Given the description of an element on the screen output the (x, y) to click on. 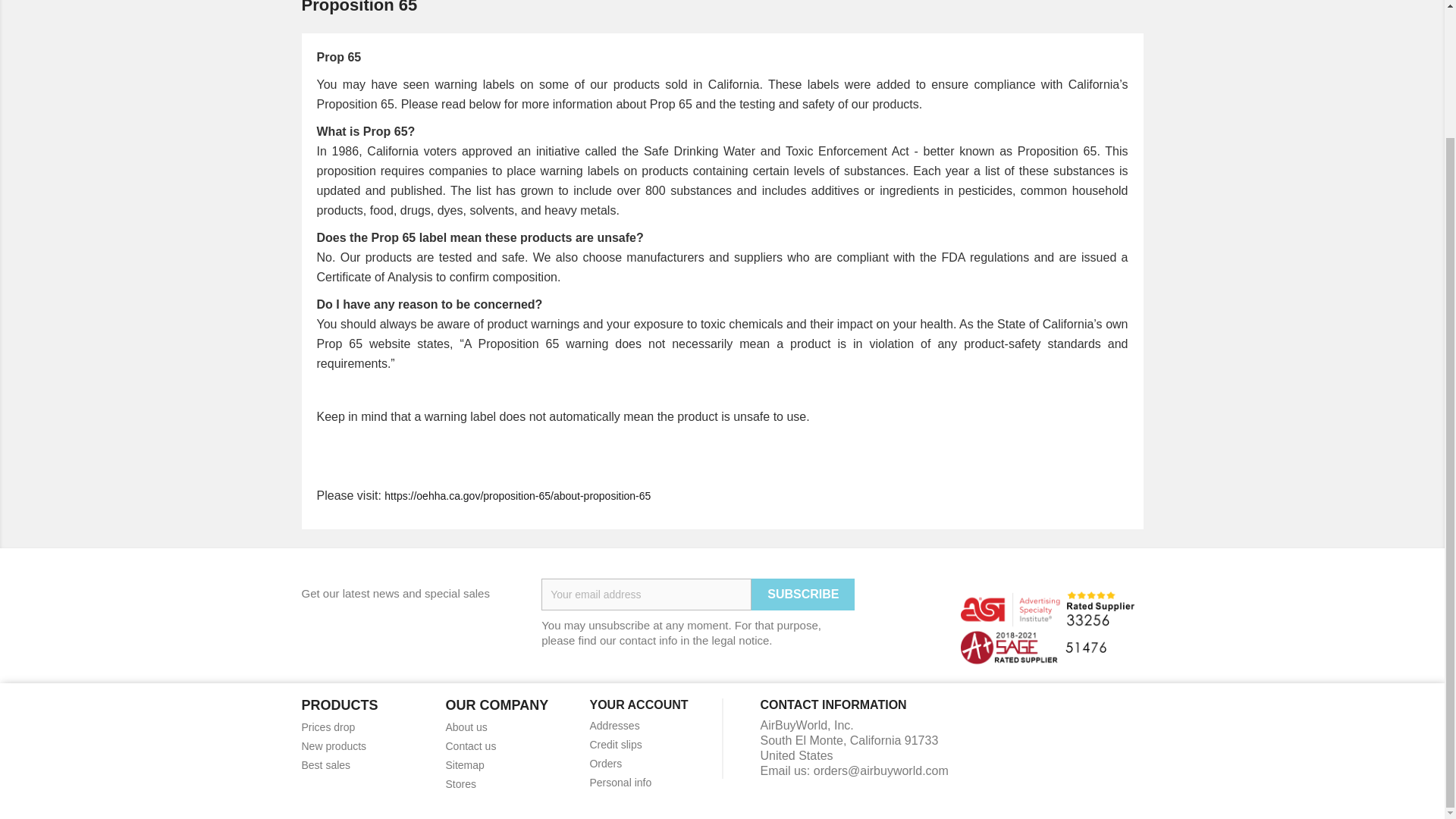
Orders (605, 763)
Our new products (333, 746)
Use our form to contact us (470, 746)
Our best sales (325, 765)
Learn more about us (465, 727)
Credit slips (615, 744)
On-sale products (328, 727)
Addresses (614, 725)
Subscribe (802, 594)
Lost ? Find what your are looking for (464, 765)
Personal info (619, 782)
